Given the description of an element on the screen output the (x, y) to click on. 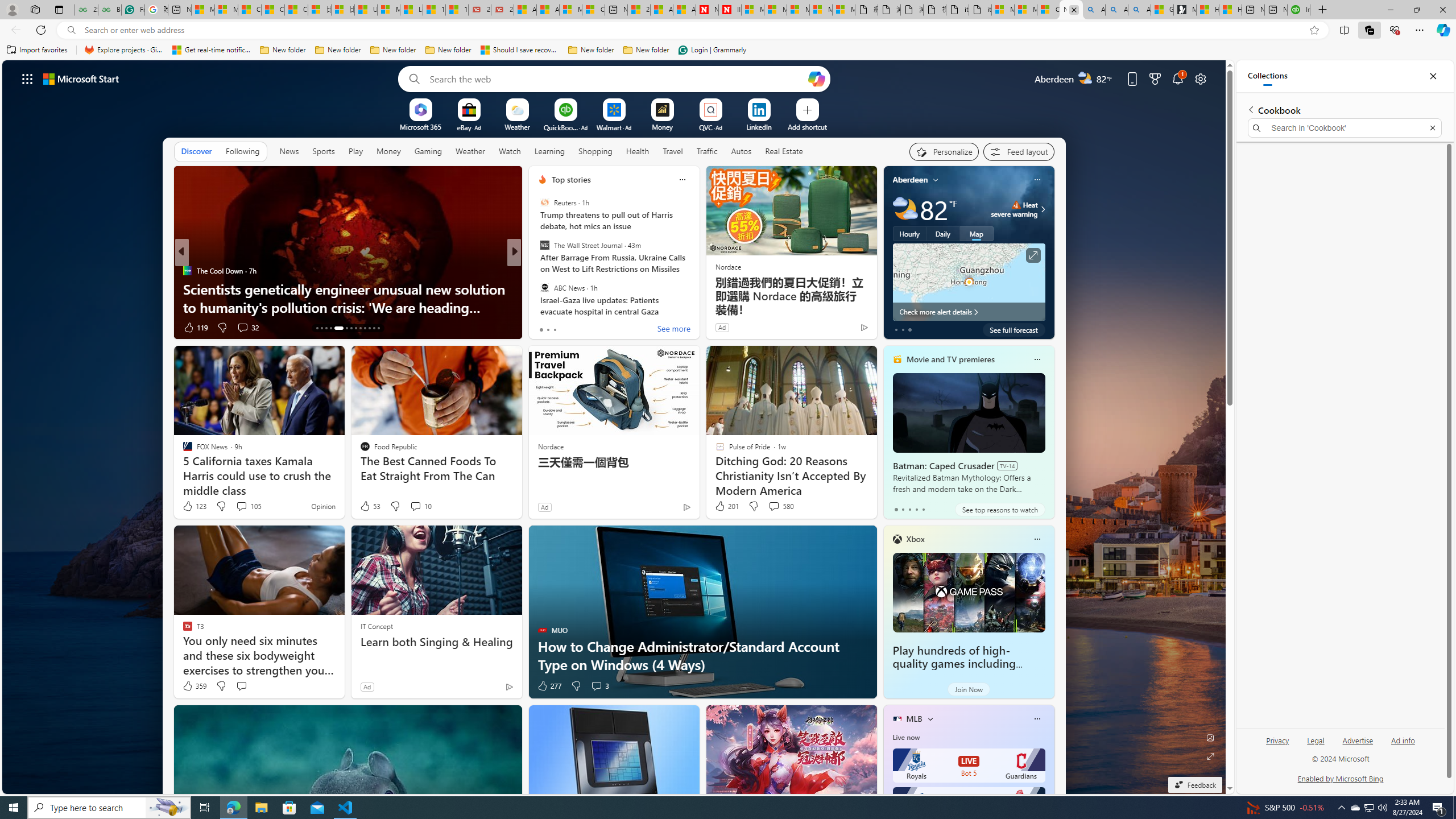
The Telegraph (537, 270)
21 Movies That Outdid the Books They Were Based On (502, 9)
View comments 82 Comment (597, 327)
Page settings (1200, 78)
Map (975, 233)
USA TODAY - MSN (365, 9)
59 Like (543, 327)
15 Ways Modern Life Contradicts the Teachings of Jesus (457, 9)
